Given the description of an element on the screen output the (x, y) to click on. 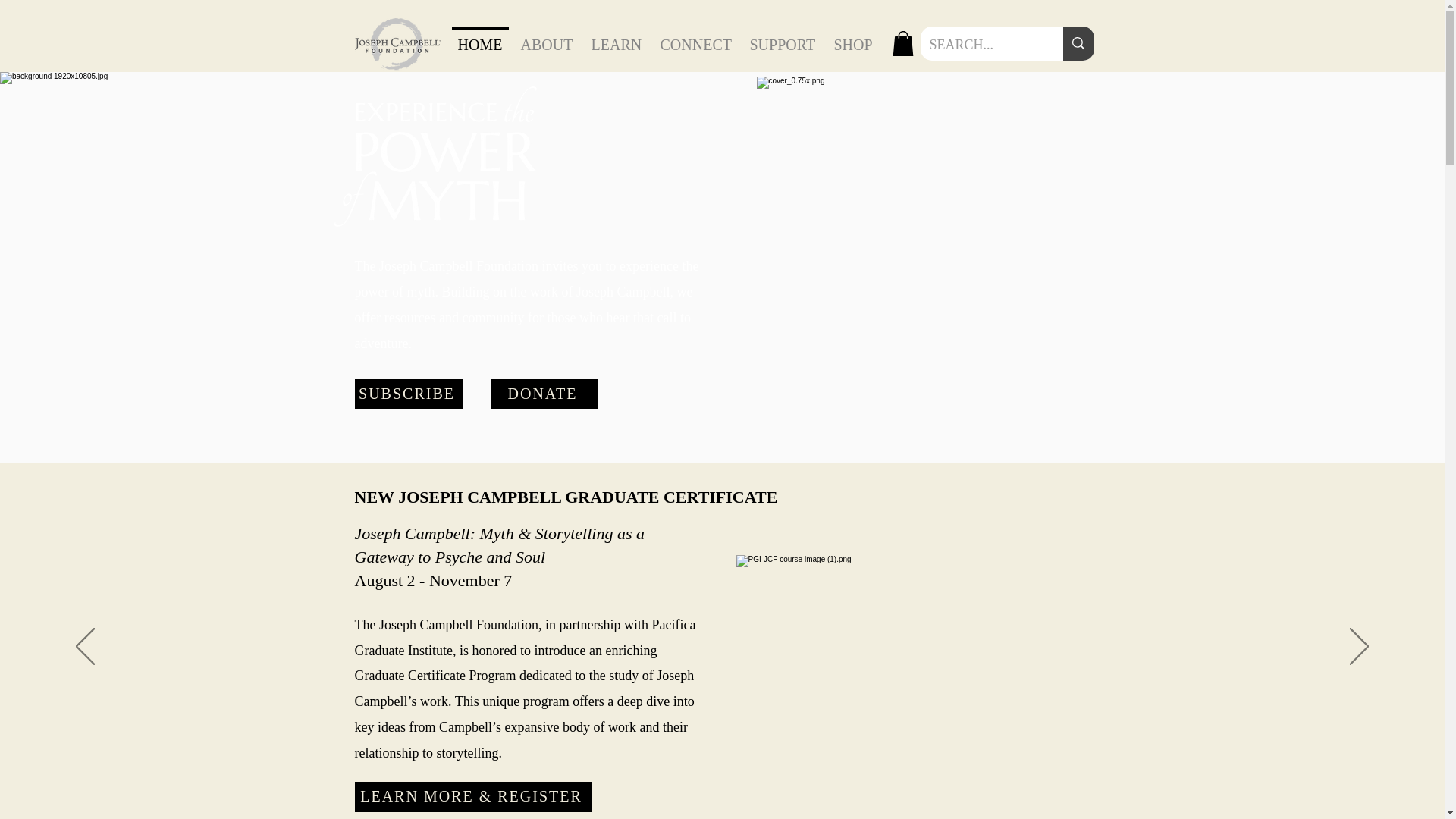
DONATE (542, 394)
HOME (480, 37)
ABOUT (545, 37)
CONNECT (694, 37)
SUPPORT (781, 37)
SHOP (853, 37)
LEARN (616, 37)
SUBSCRIBE (409, 394)
